Given the description of an element on the screen output the (x, y) to click on. 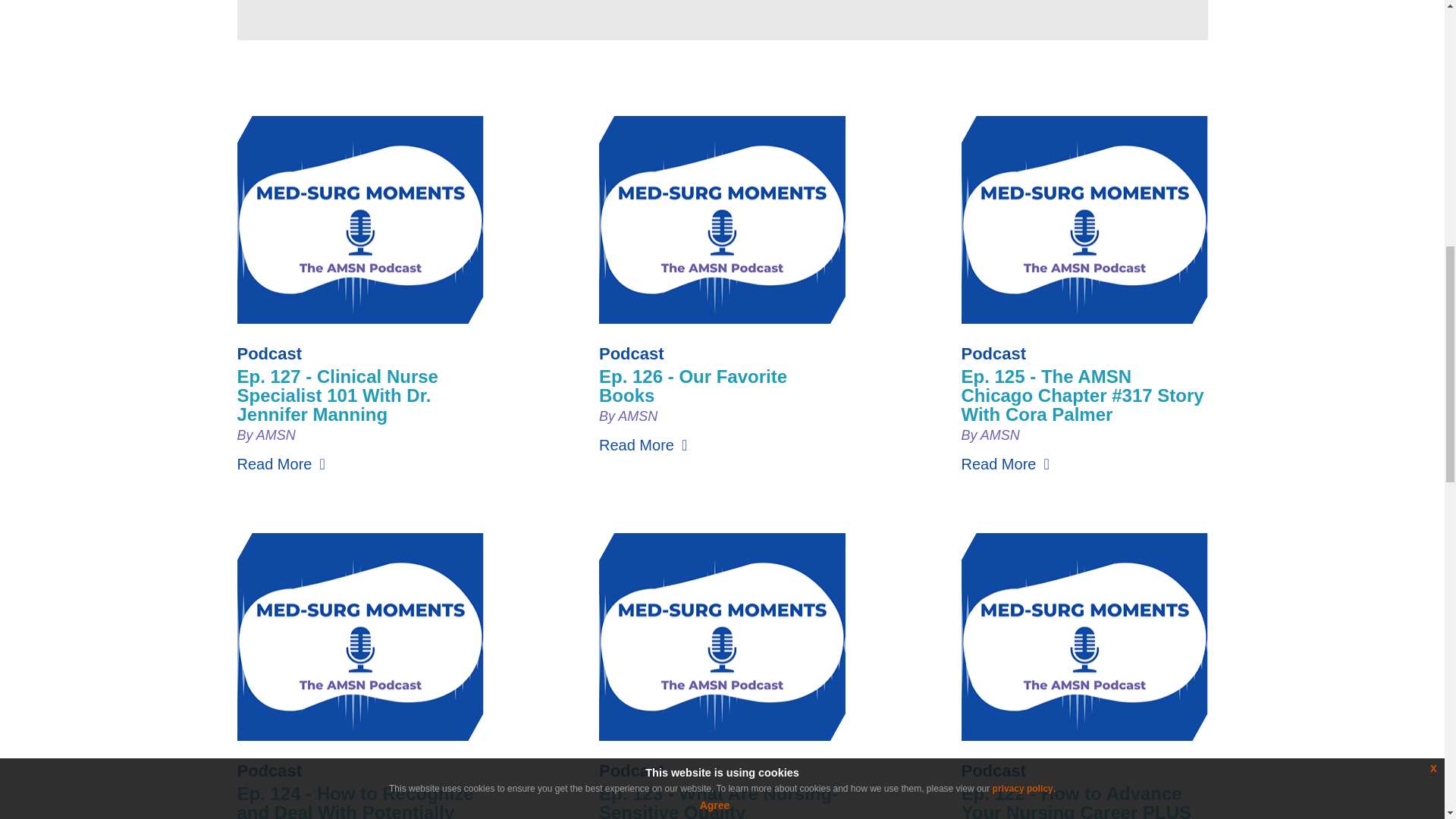
Read More (642, 444)
Ep. 123 - What Are Nursing-Sensitive Quality Indicators? (718, 800)
Read More (279, 463)
Ep. 126 - Our Favorite Books (692, 385)
Read More (1004, 463)
